Given the description of an element on the screen output the (x, y) to click on. 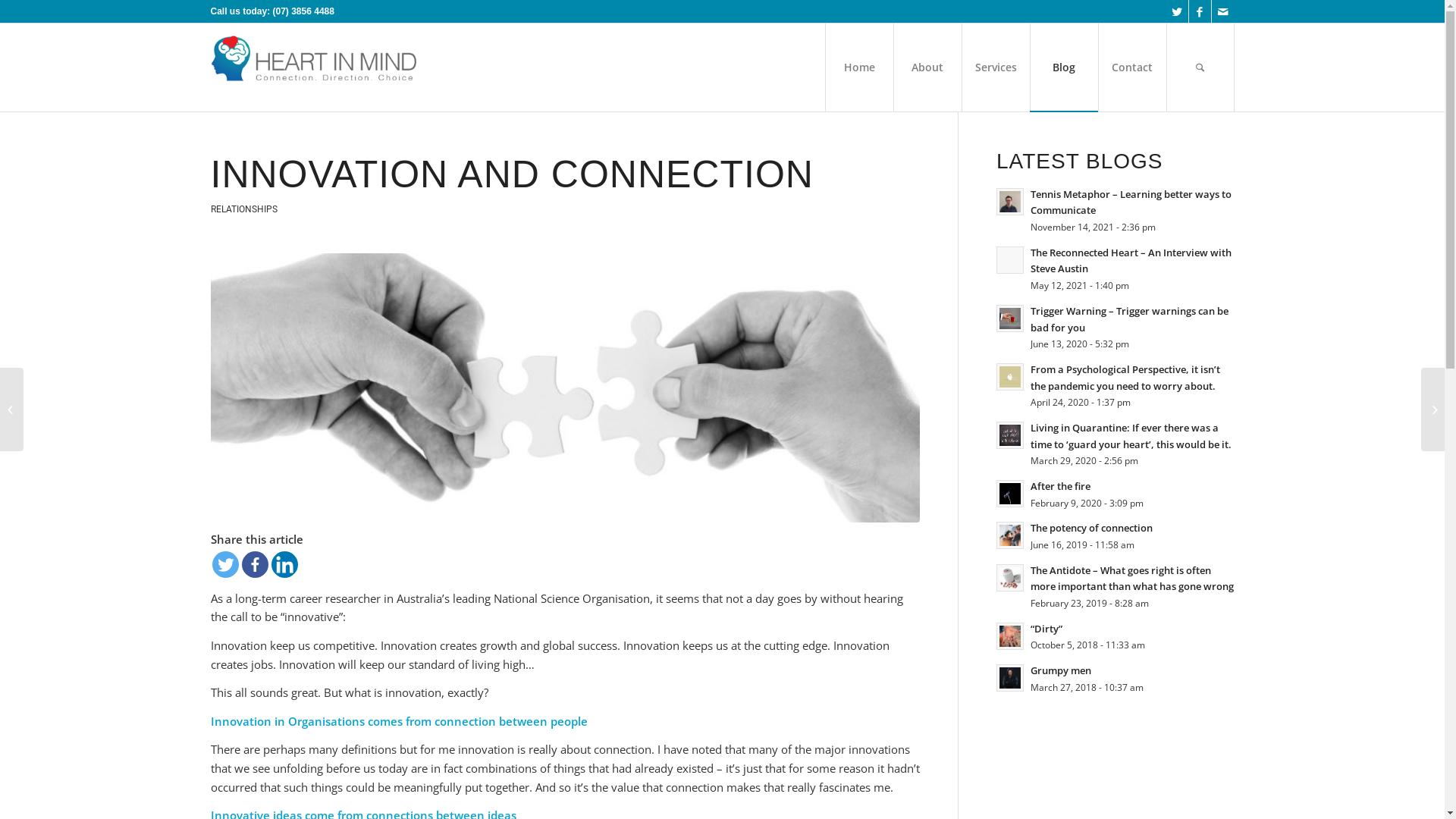
Mail Element type: hover (1222, 11)
Innovation and connection Element type: hover (565, 387)
Grumpy men
March 27, 2018 - 10:37 am Element type: text (1115, 678)
Linkedin Element type: hover (284, 564)
Home Element type: text (859, 67)
About Element type: text (927, 67)
Contact Element type: text (1132, 67)
Twitter Element type: hover (225, 564)
Blog Element type: text (1063, 67)
Twitter Element type: hover (1177, 11)
Services Element type: text (995, 67)
INNOVATION AND CONNECTION Element type: text (511, 174)
RELATIONSHIPS Element type: text (243, 208)
The potency of connection
June 16, 2019 - 11:58 am Element type: text (1115, 535)
Facebook Element type: hover (254, 564)
Facebook Element type: hover (1200, 11)
After the fire
February 9, 2020 - 3:09 pm Element type: text (1115, 493)
